Given the description of an element on the screen output the (x, y) to click on. 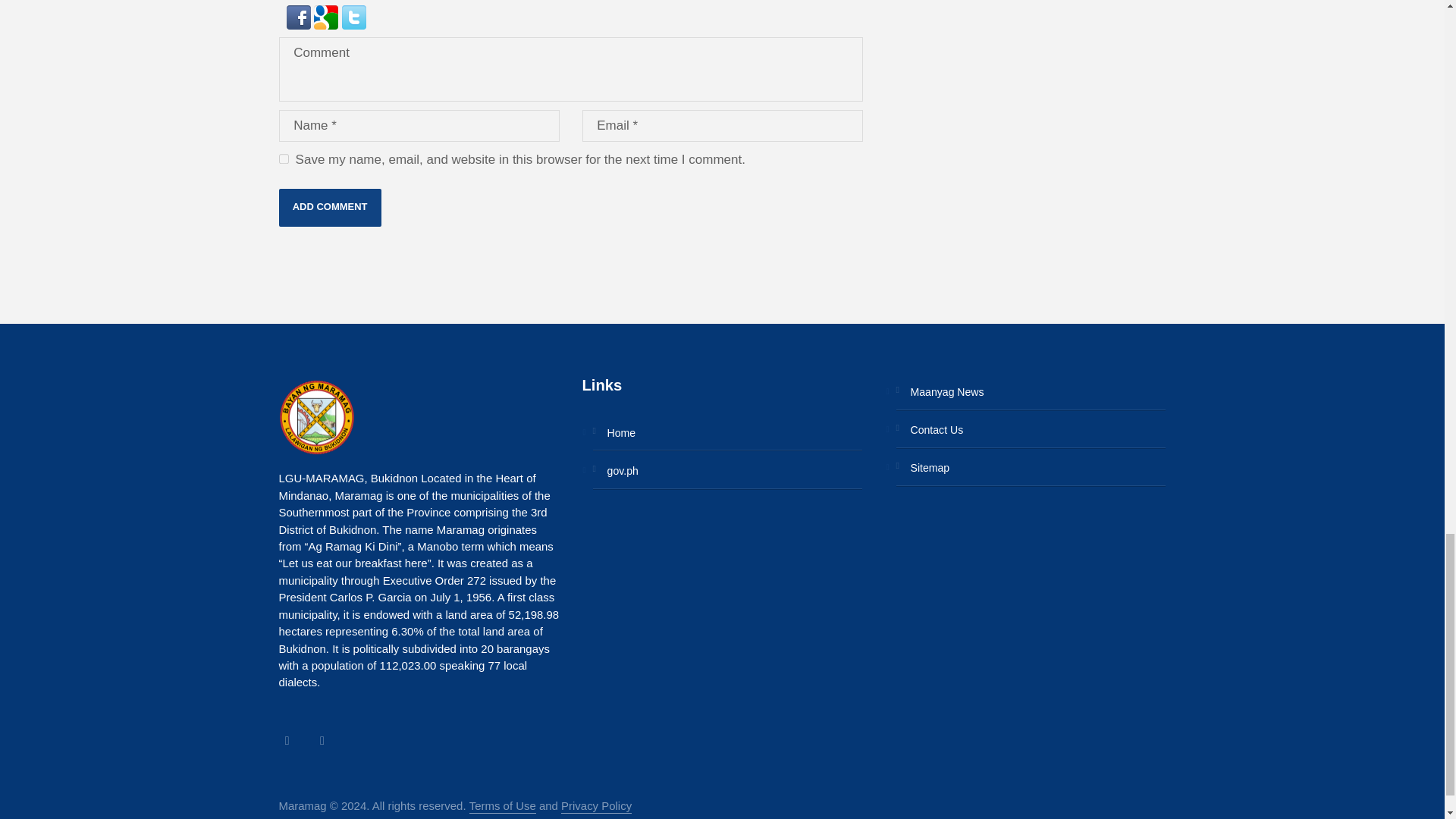
Connect with Facebook (300, 14)
Connect with Facebook (298, 16)
Add Comment (330, 207)
Connect with Google (328, 14)
yes (283, 159)
